Given the description of an element on the screen output the (x, y) to click on. 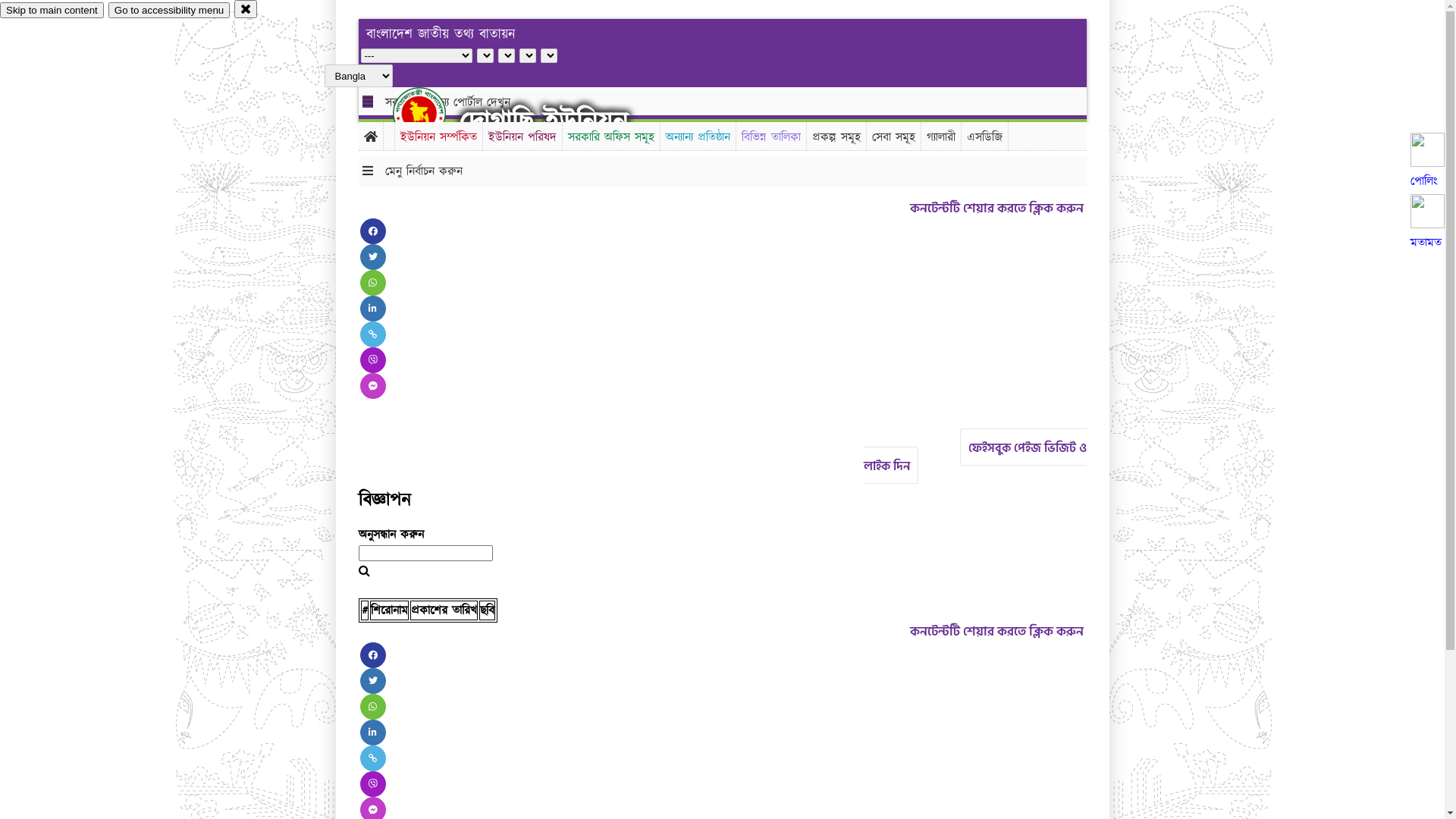
close Element type: hover (245, 9)
Skip to main content Element type: text (51, 10)
Go to accessibility menu Element type: text (168, 10)

                
             Element type: hover (431, 112)
